Given the description of an element on the screen output the (x, y) to click on. 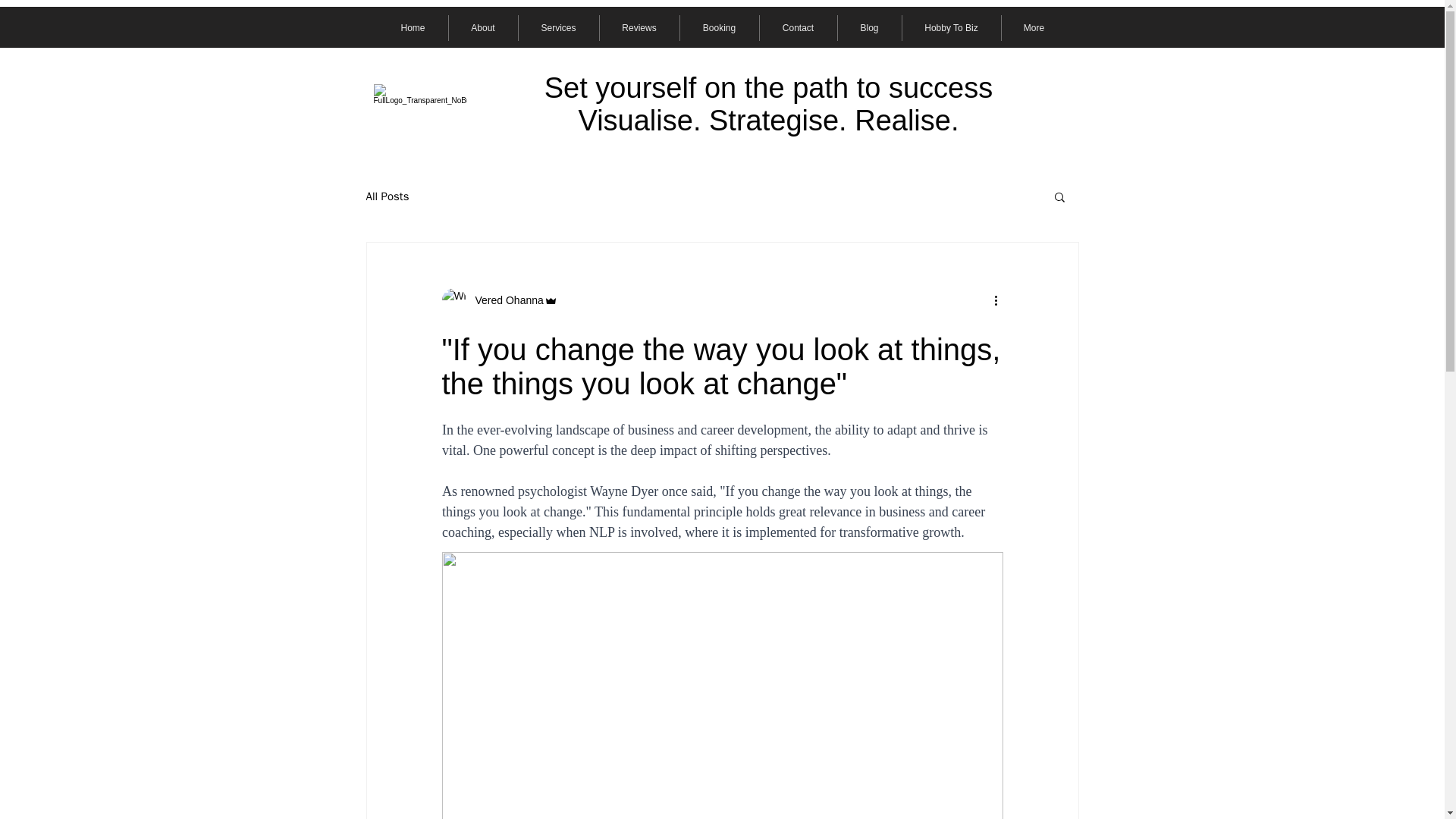
All Posts (387, 196)
Blog (869, 27)
Contact (798, 27)
Services (558, 27)
Home (411, 27)
Vered Ohanna (499, 300)
About (483, 27)
Hobby To Biz (951, 27)
Booking (718, 27)
Reviews (638, 27)
Vered Ohanna (504, 300)
